Given the description of an element on the screen output the (x, y) to click on. 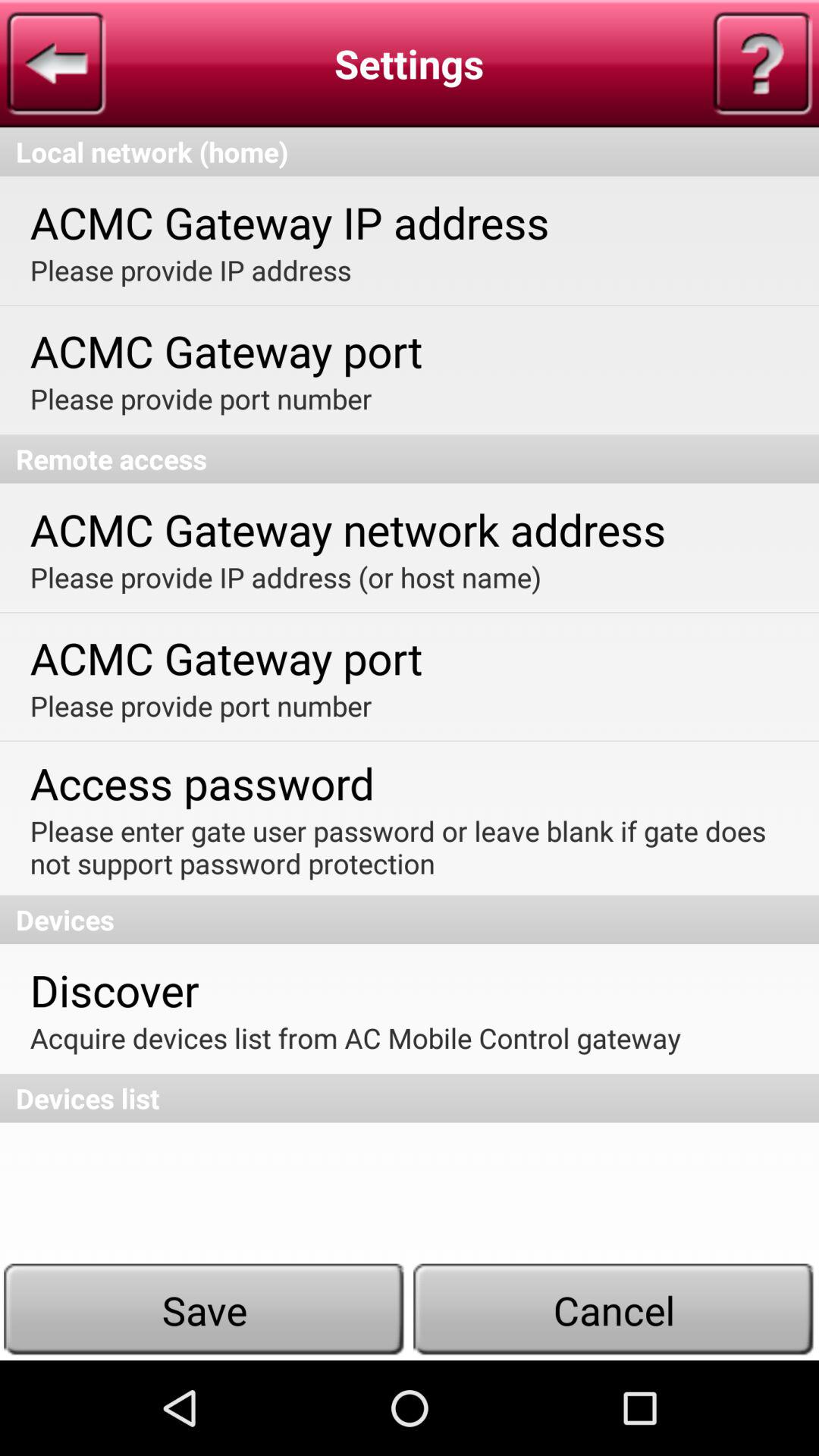
press item next to the save item (614, 1309)
